Given the description of an element on the screen output the (x, y) to click on. 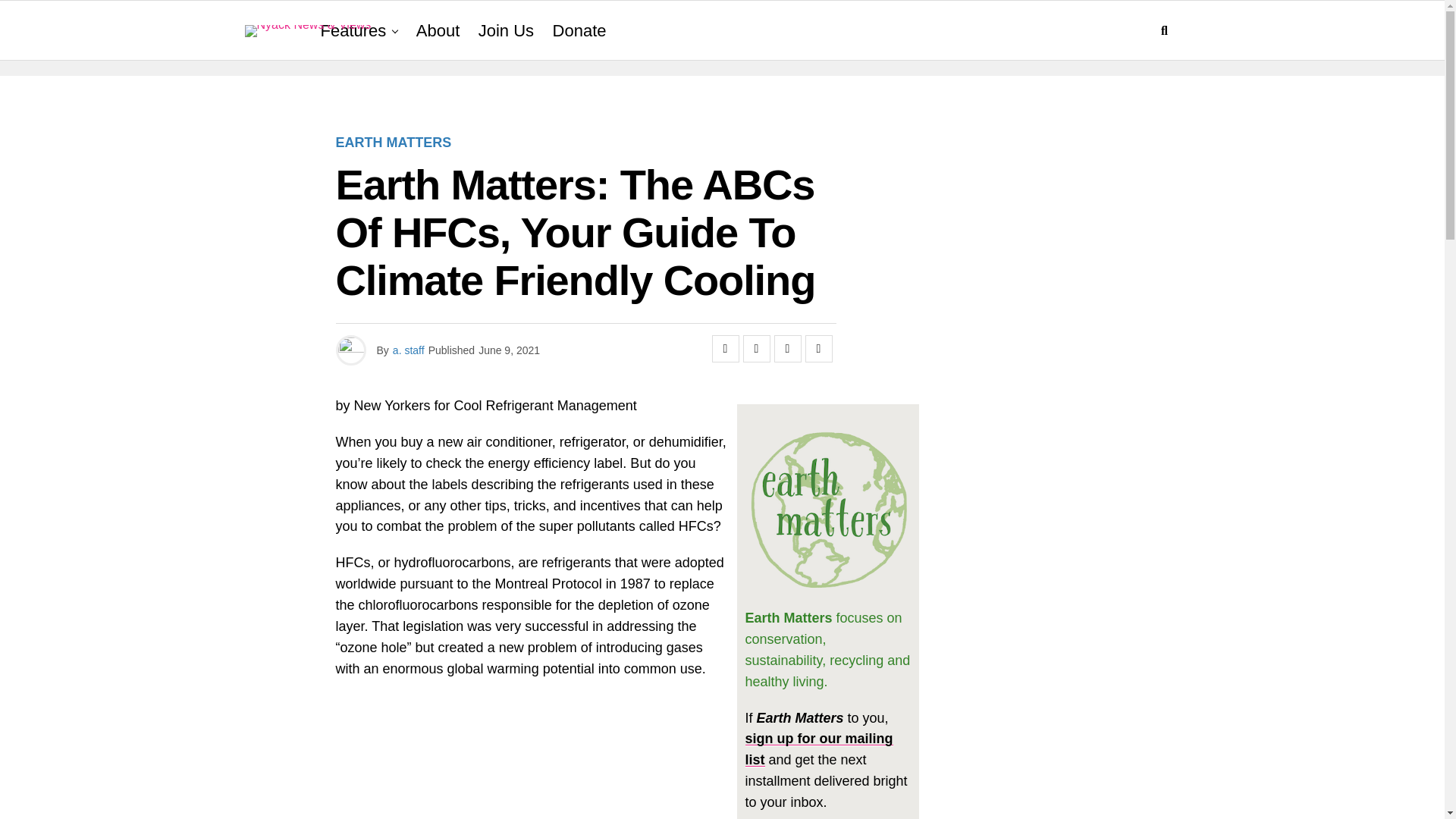
Donate (579, 30)
About (438, 30)
Share on Facebook (724, 348)
a. staff (409, 349)
Features (353, 30)
sign up for our mailing list (818, 749)
Posts by a. staff (409, 349)
EARTH MATTERS (392, 142)
Join Us (505, 30)
Tweet This Post (756, 348)
